Given the description of an element on the screen output the (x, y) to click on. 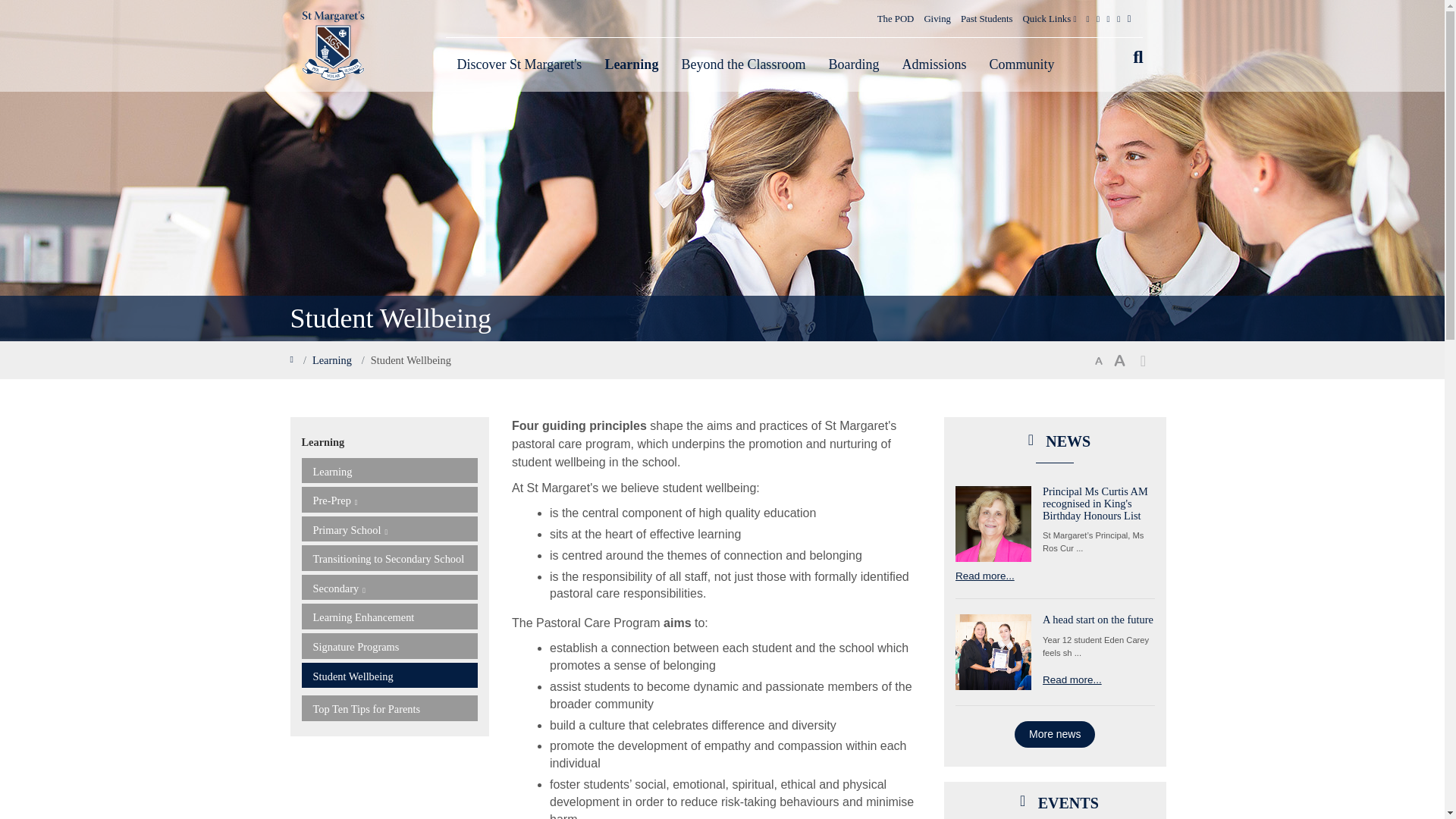
Quick Links (1049, 18)
Past Students (986, 18)
The POD (896, 18)
Discover St Margaret's (519, 64)
Print page (1142, 360)
Giving (937, 18)
